Given the description of an element on the screen output the (x, y) to click on. 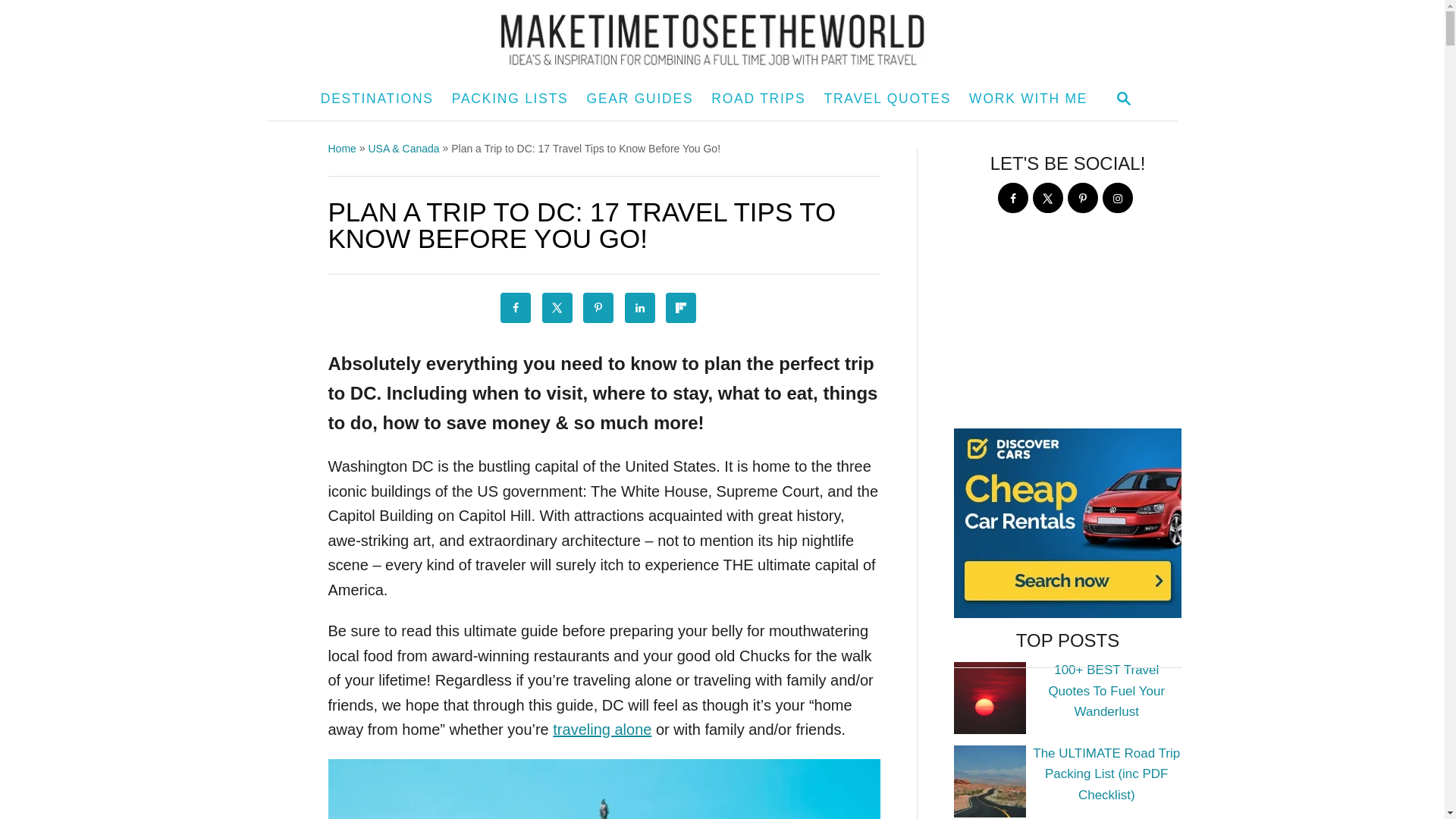
Follow on Facebook (1012, 197)
MakeTimeToSeeTheWorld (721, 38)
Save to Pinterest (597, 307)
Share on X (556, 307)
MAGNIFYING GLASS (1123, 98)
Share on Facebook (515, 307)
Share on Flipboard (680, 307)
DESTINATIONS (376, 99)
Share on LinkedIn (639, 307)
